Given the description of an element on the screen output the (x, y) to click on. 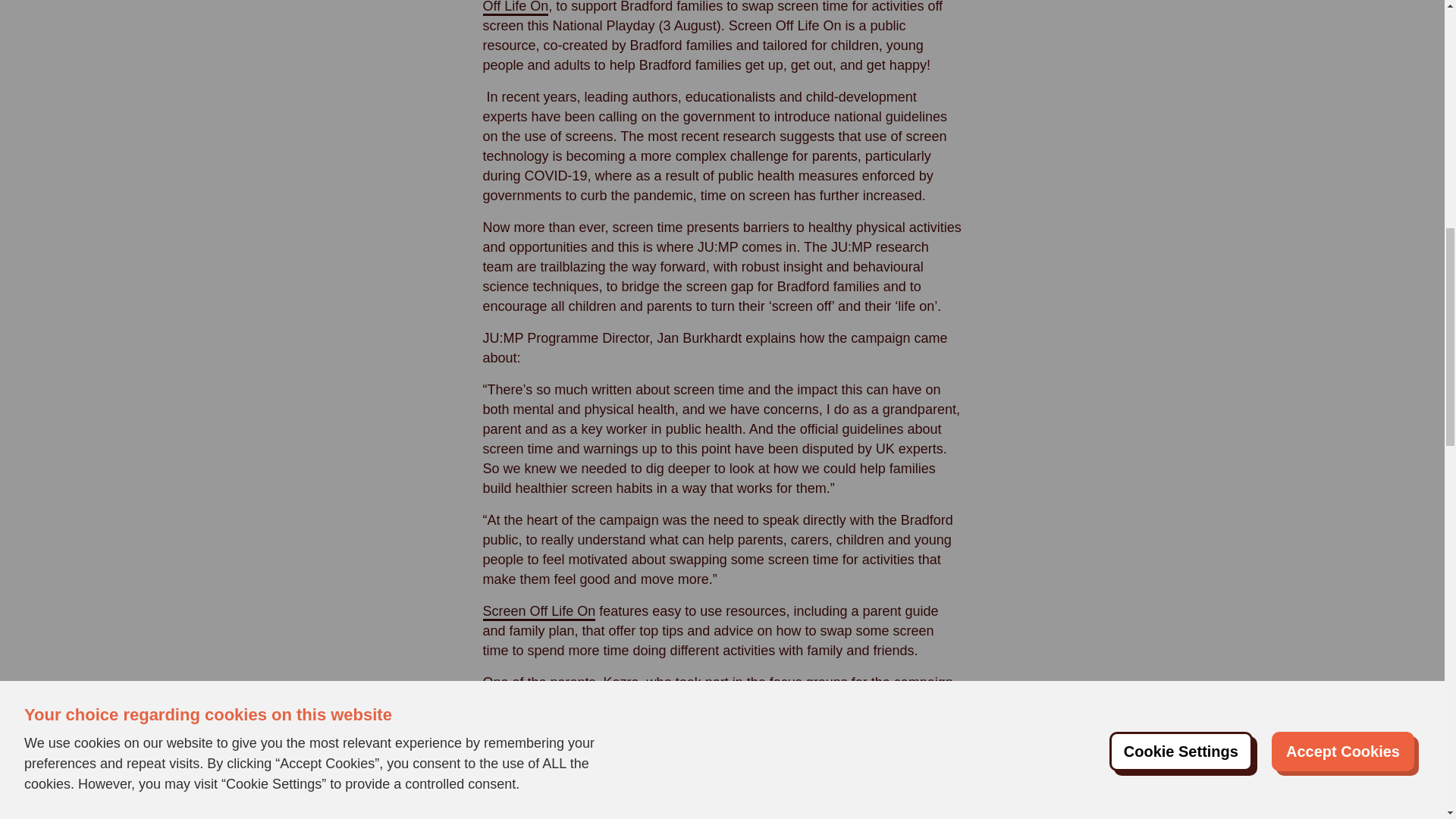
Cookie Settings (1180, 39)
Screen Off Life On (538, 611)
Screen Off Life On (715, 7)
Accept Cookies (1342, 60)
